Given the description of an element on the screen output the (x, y) to click on. 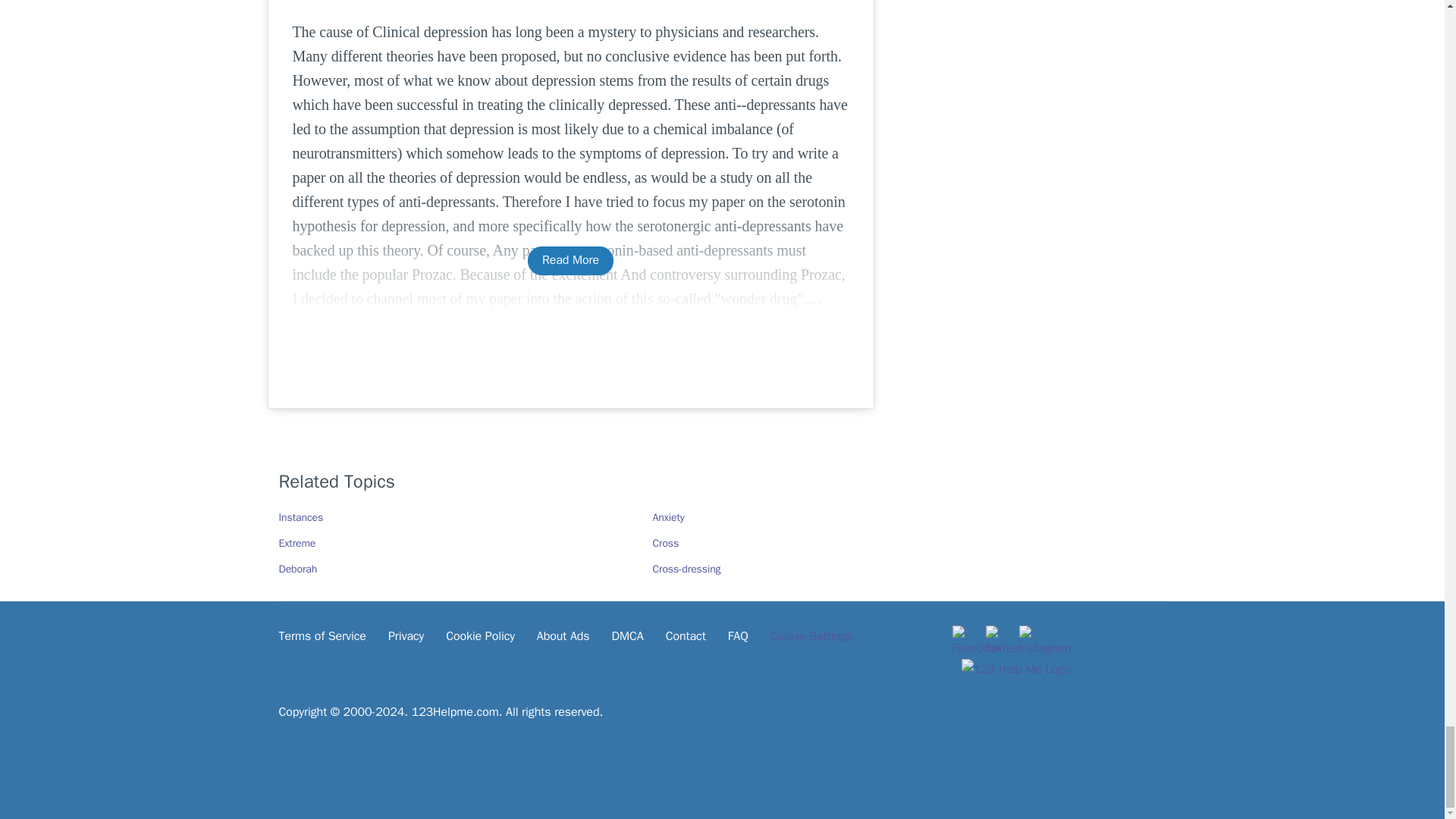
Cross (665, 543)
Instances (301, 517)
Cross-dressing (686, 568)
Anxiety (668, 517)
Extreme (297, 543)
Deborah (298, 568)
